Given the description of an element on the screen output the (x, y) to click on. 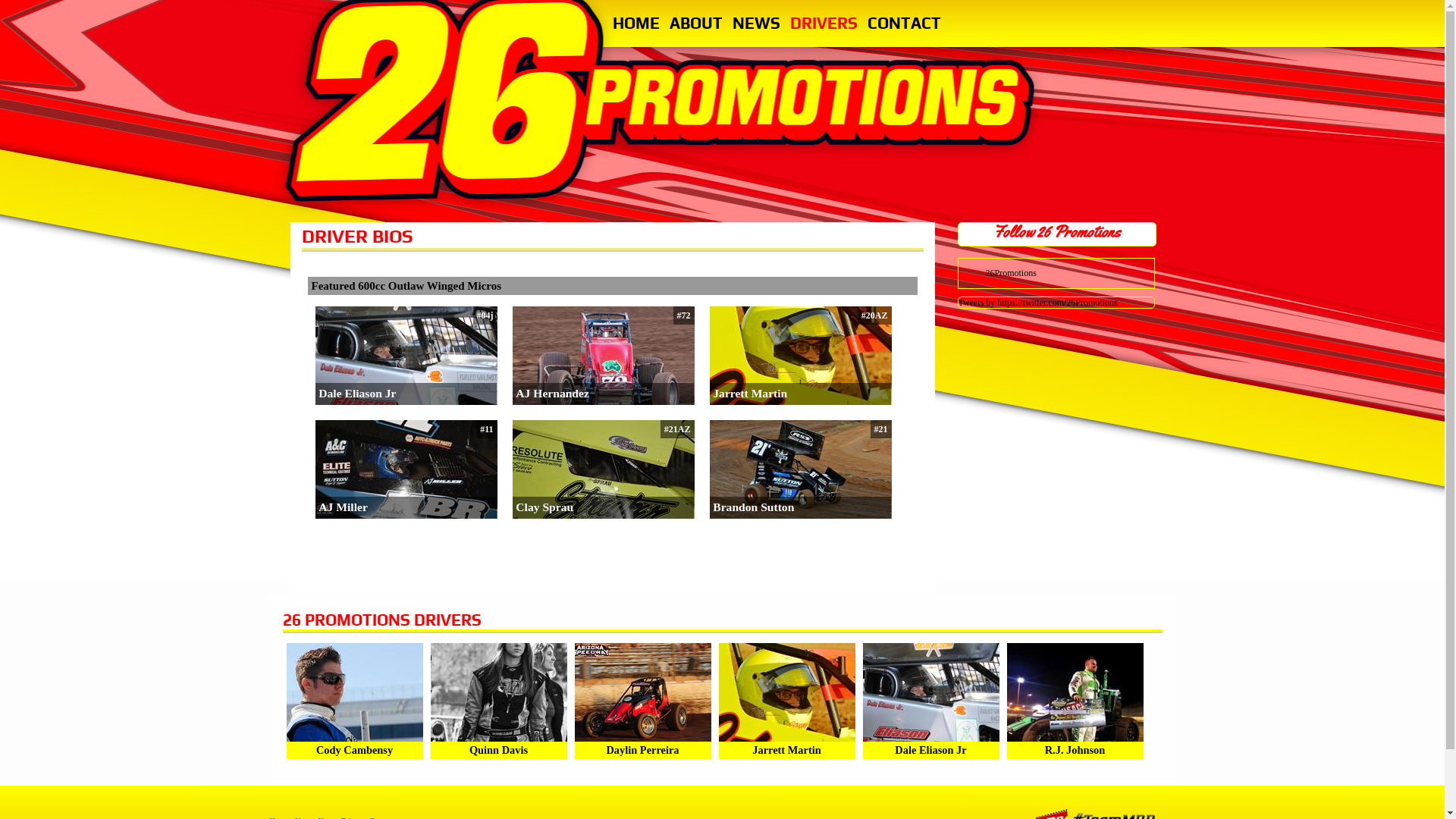
AJ Miller Element type: text (342, 506)
Dale Eliason Jr Element type: text (356, 392)
CONTACT Element type: text (904, 23)
Jarrett Martin Element type: text (749, 392)
Dale Eliason Jr Element type: text (930, 749)
HOME Element type: text (635, 23)
Jarrett Martin Element type: text (786, 749)
R.J. Johnson Element type: text (1074, 749)
ABOUT Element type: text (694, 23)
NEWS Element type: text (756, 23)
Daylin Perreira Element type: text (641, 749)
Brandon Sutton Element type: text (752, 506)
Tweets by https://twitter.com/26Promotions Element type: text (1037, 302)
Clay Sprau Element type: text (544, 506)
Quinn Davis Element type: text (498, 749)
26Promotions Element type: text (1010, 272)
DRIVERS Element type: text (823, 23)
26 Promotions | Driver Bio's Element type: text (664, 101)
AJ Hernandez Element type: text (552, 392)
Cody Cambensy Element type: text (354, 749)
